Given the description of an element on the screen output the (x, y) to click on. 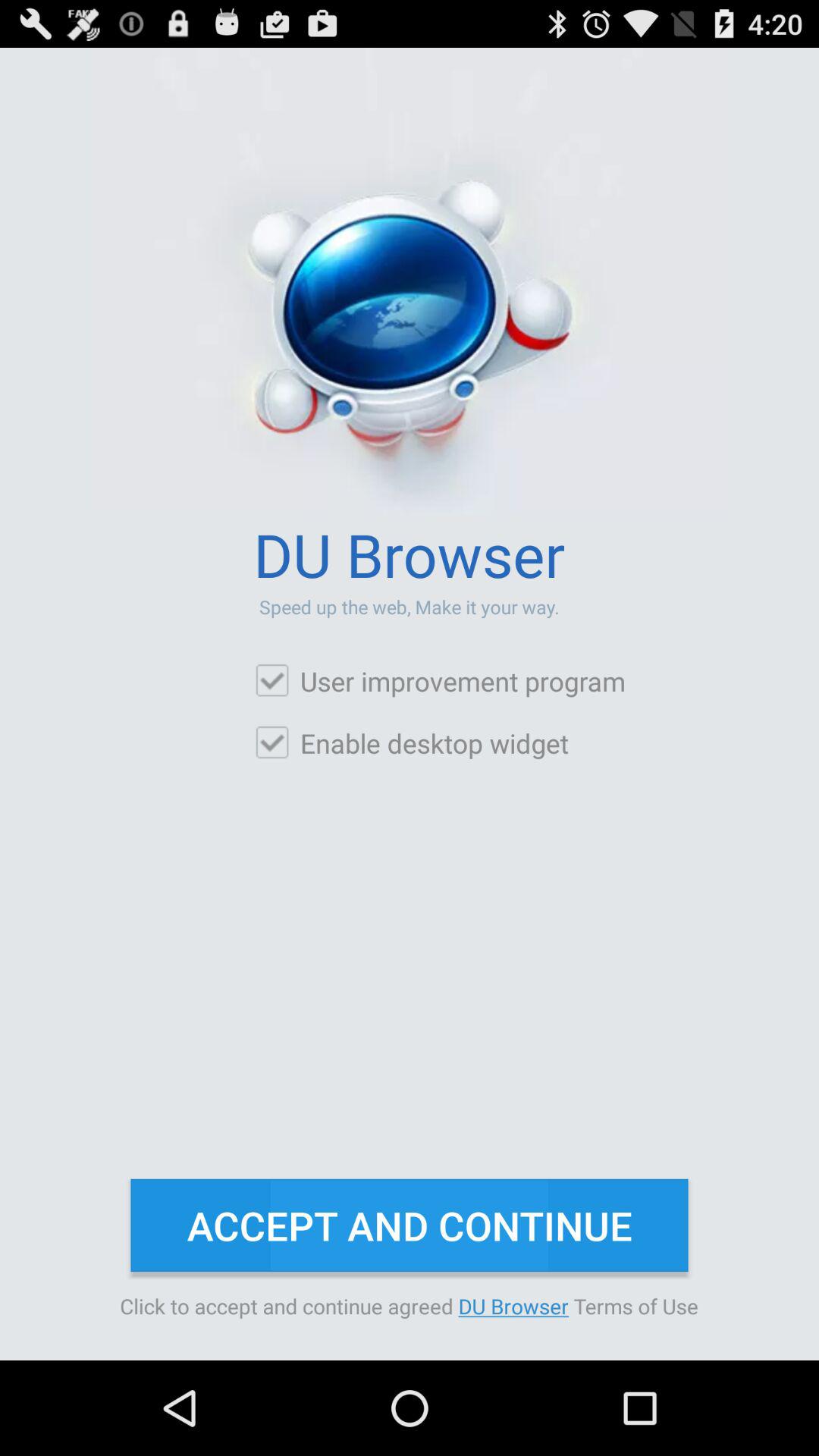
turn off the user improvement program checkbox (439, 680)
